Given the description of an element on the screen output the (x, y) to click on. 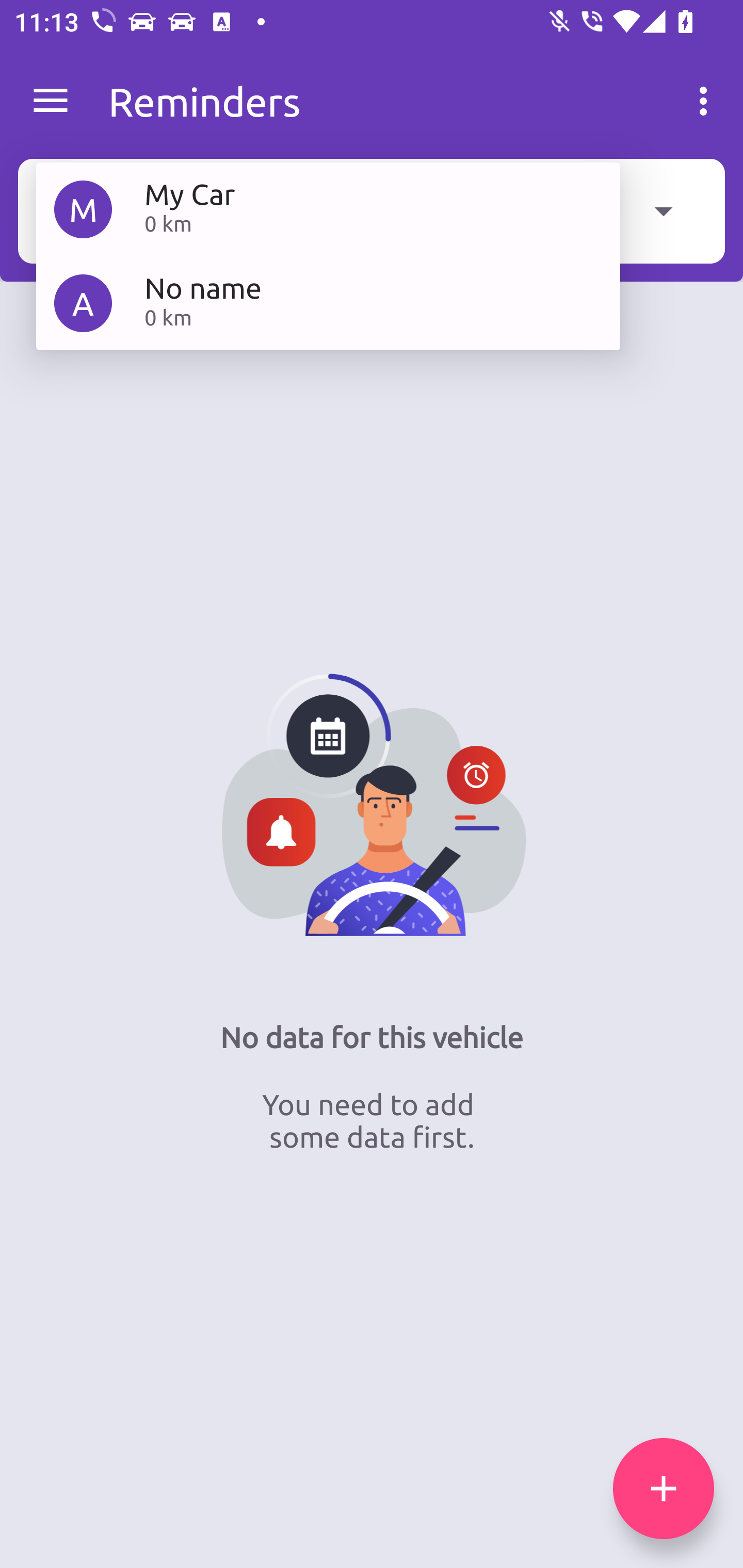
M My Car 0 km (328, 209)
A No name 0 km (328, 302)
